Given the description of an element on the screen output the (x, y) to click on. 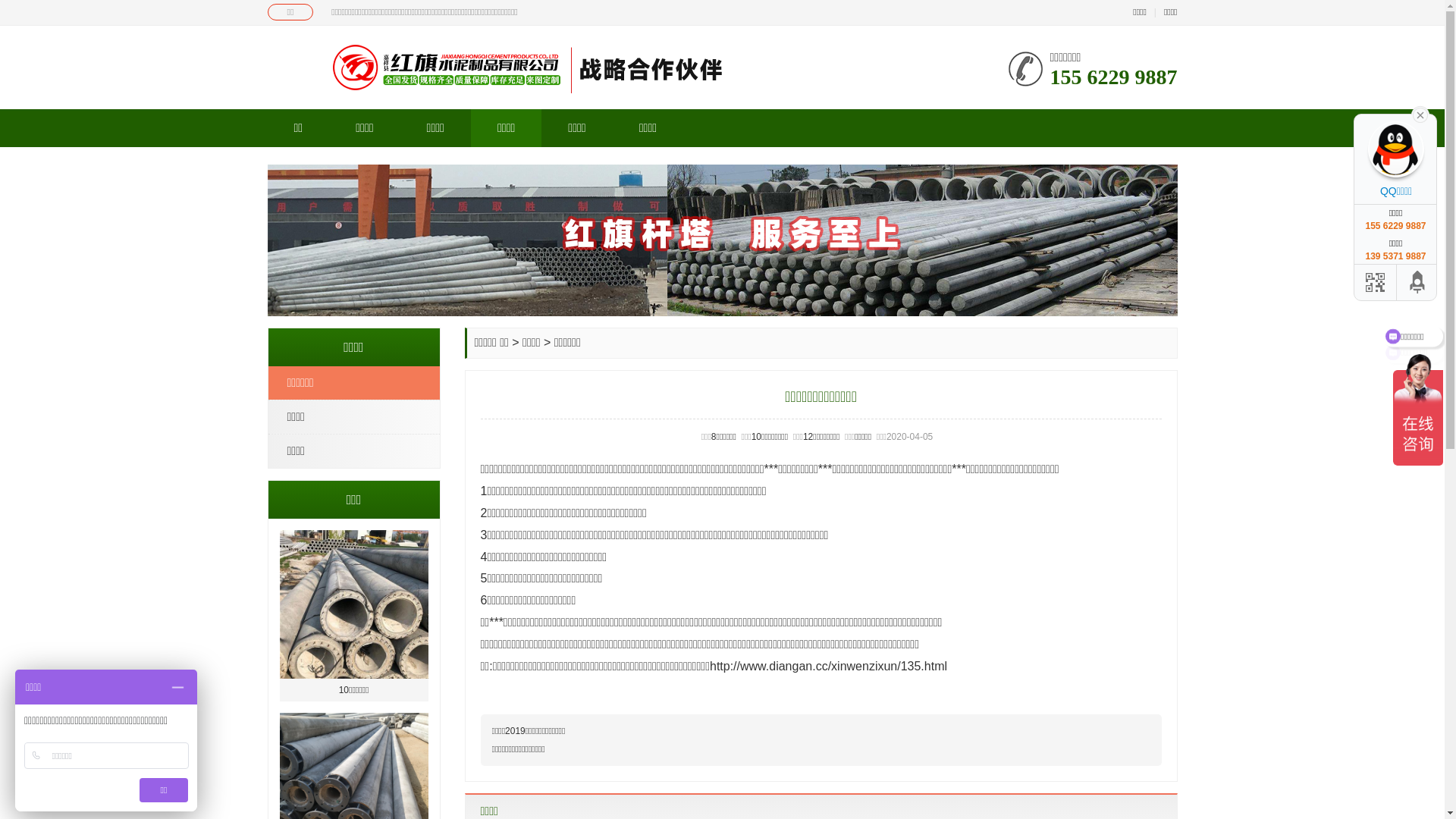
  Element type: text (1420, 113)
http://www.diangan.cc/xinwenzixun/135.html Element type: text (828, 665)
